Given the description of an element on the screen output the (x, y) to click on. 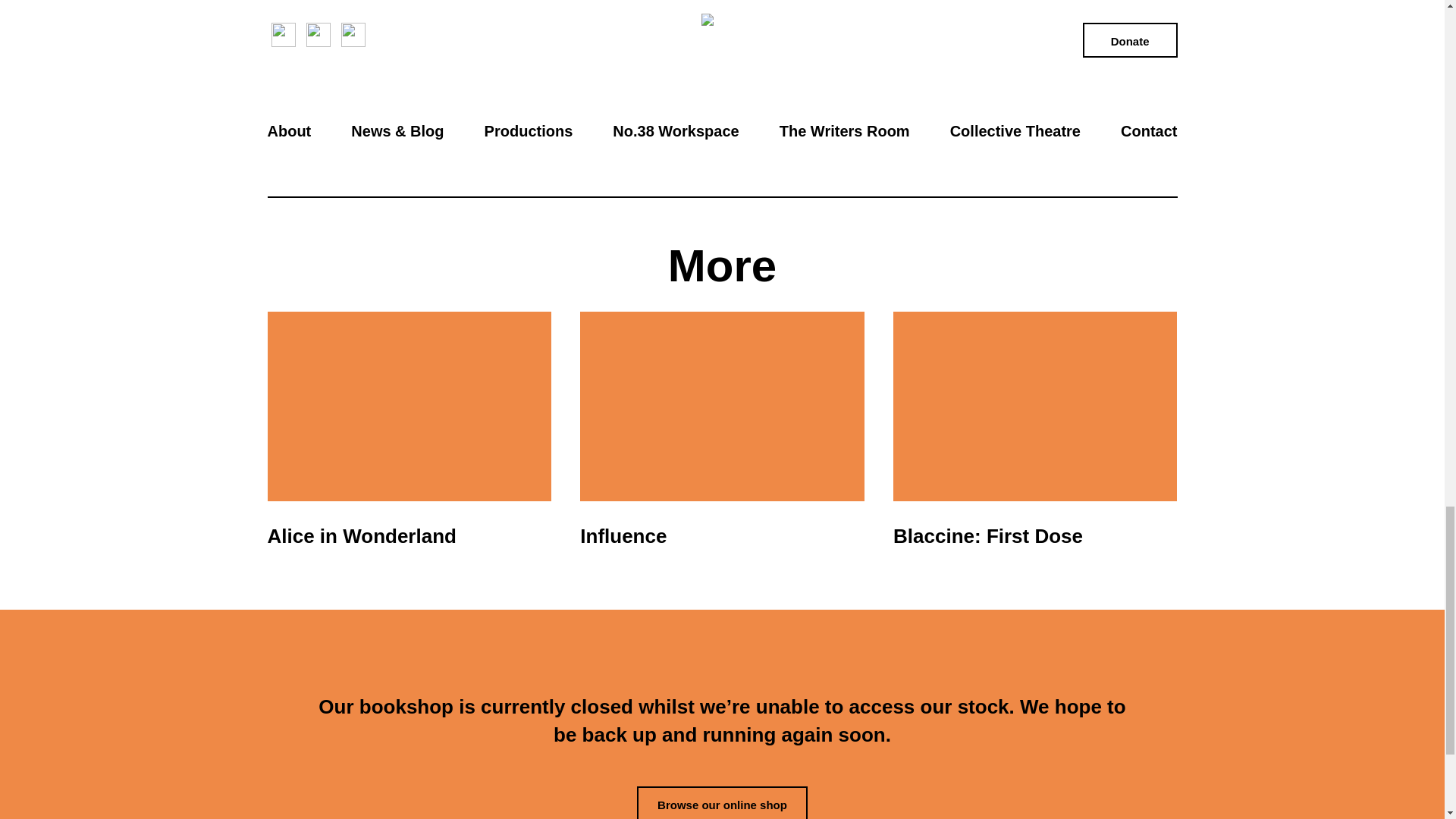
Influence (721, 438)
Alice in Wonderland (408, 438)
Browse our online shop (722, 802)
Blaccine: First Dose (1034, 438)
